Given the description of an element on the screen output the (x, y) to click on. 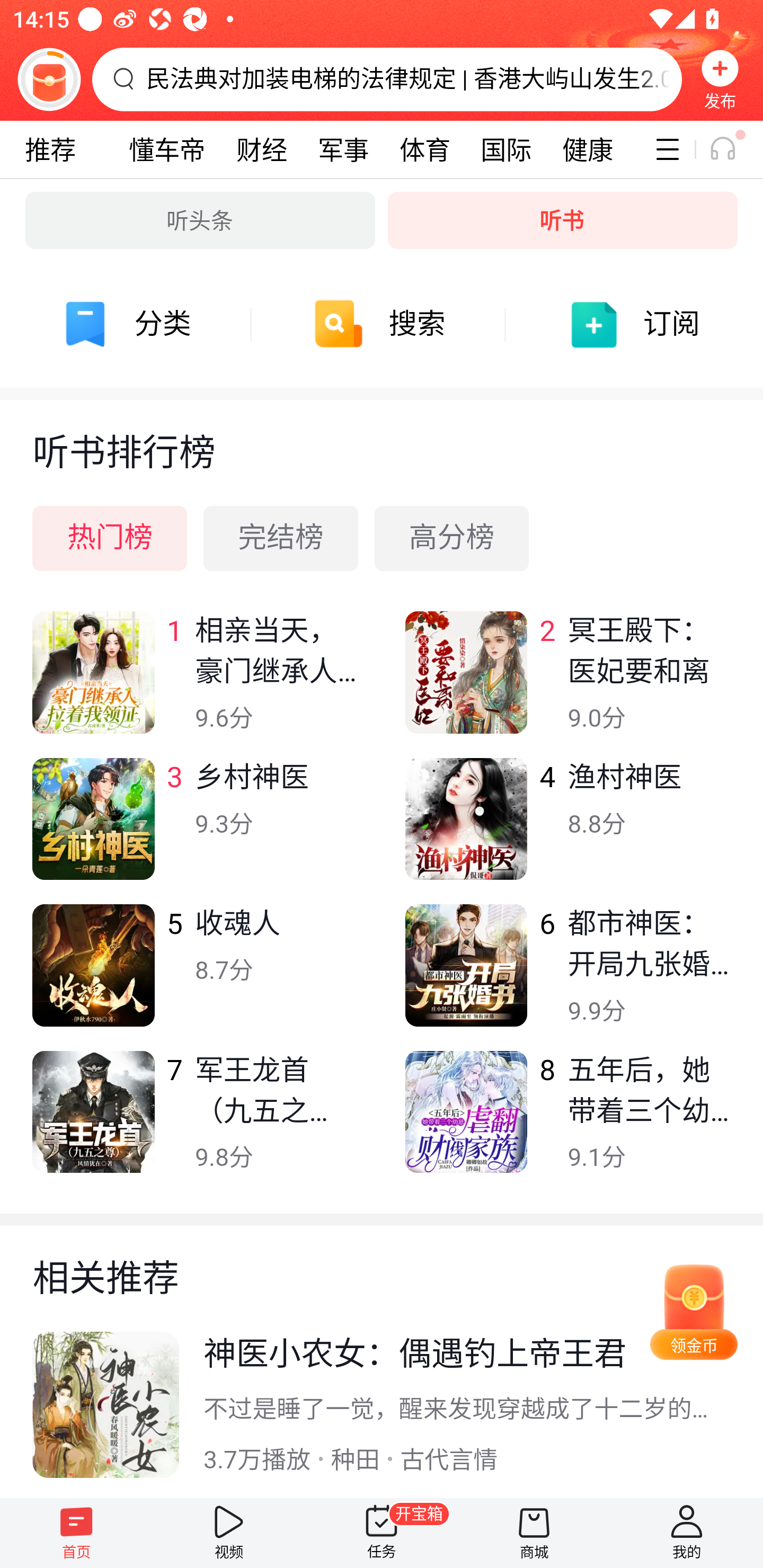
阅读赚金币 (48, 79)
发布 发布，按钮 (720, 78)
推荐 (49, 149)
懂车帝 (166, 149)
财经 (261, 149)
军事 (342, 149)
体育 (424, 149)
国际 (505, 149)
健康 (587, 149)
听一听开关 (732, 149)
听头条 (200, 220)
听书 (562, 220)
ec8ff11ac83e41d92da951de2b550623~tplv-noop 分类 (127, 324)
31232cedd33974649eb46fcb01598aba~tplv-noop 搜索 (381, 324)
4f7d5fecbd4d483872d847870da721d1~tplv-noop 订阅 (635, 324)
听书排行榜 (381, 437)
热门榜 (109, 538)
完结榜 (280, 538)
高分榜 (451, 538)
1 相亲当天，豪门继承人拉着我领证 9.6 分 (195, 684)
2 冥王殿下：医妃要和离 9.0 分 (566, 684)
3 乡村神医 9.3 分 (195, 830)
4 渔村神医 8.8 分 (566, 830)
5 收魂人 8.7 分 (195, 977)
6 都市神医：开局九张婚书 9.9 分 (566, 977)
7 军王龙首（九五之尊） 9.8 分 (195, 1123)
8 五年后，她带着三个幼崽虐翻财阀家族 9.1 分 (566, 1123)
首页 (76, 1532)
视频 (228, 1532)
任务 开宝箱 (381, 1532)
商城 (533, 1532)
我的 (686, 1532)
